Given the description of an element on the screen output the (x, y) to click on. 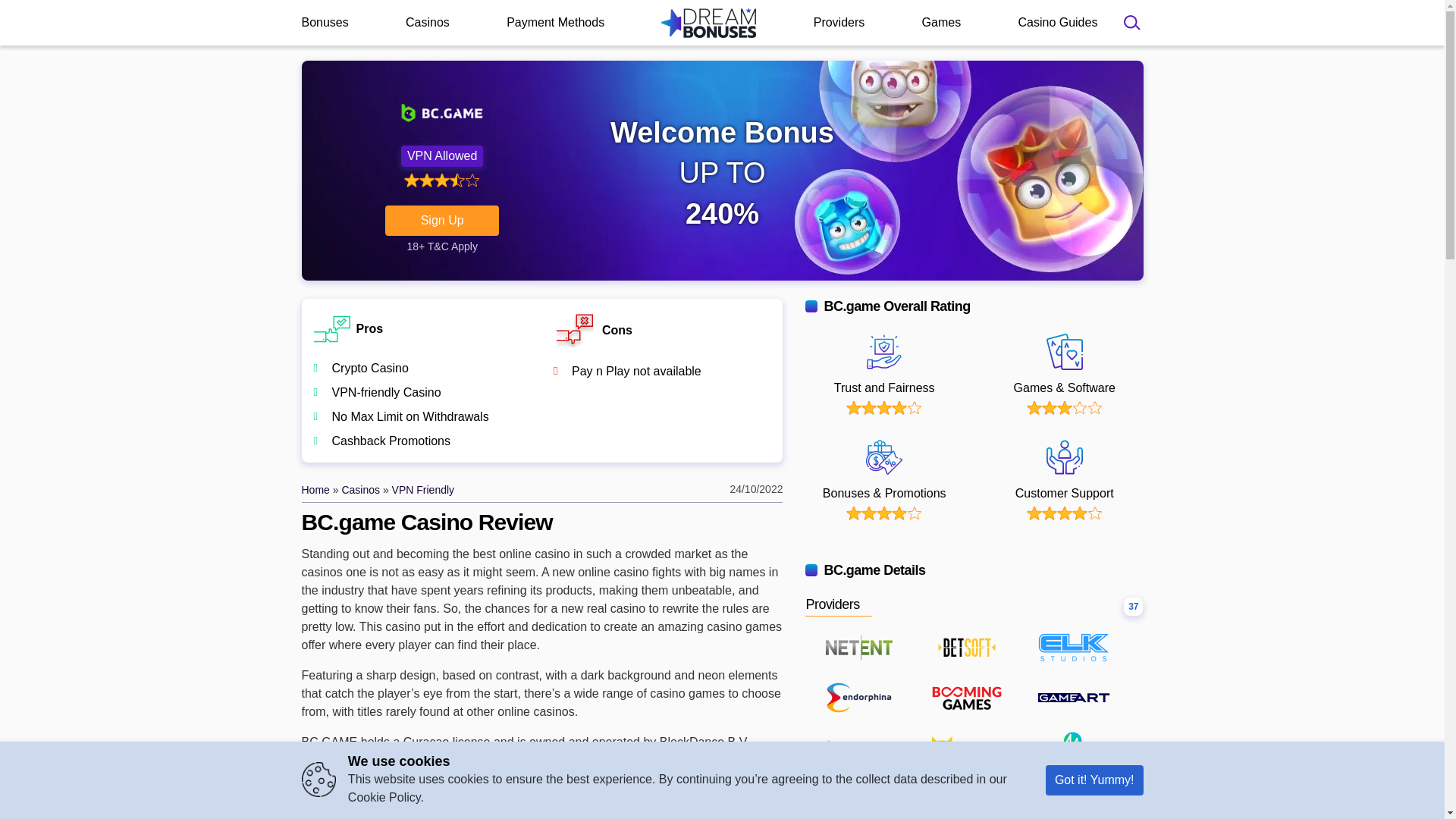
Bonuses (325, 22)
Sign Up (442, 220)
Games (940, 22)
Casino Guides (1057, 22)
Online Casino Bonuses (708, 22)
Home (315, 490)
VPN Friendly (422, 490)
Sign Up (785, 12)
Casinos (360, 490)
Providers (838, 22)
Payment Methods (555, 22)
Casinos (427, 22)
